Given the description of an element on the screen output the (x, y) to click on. 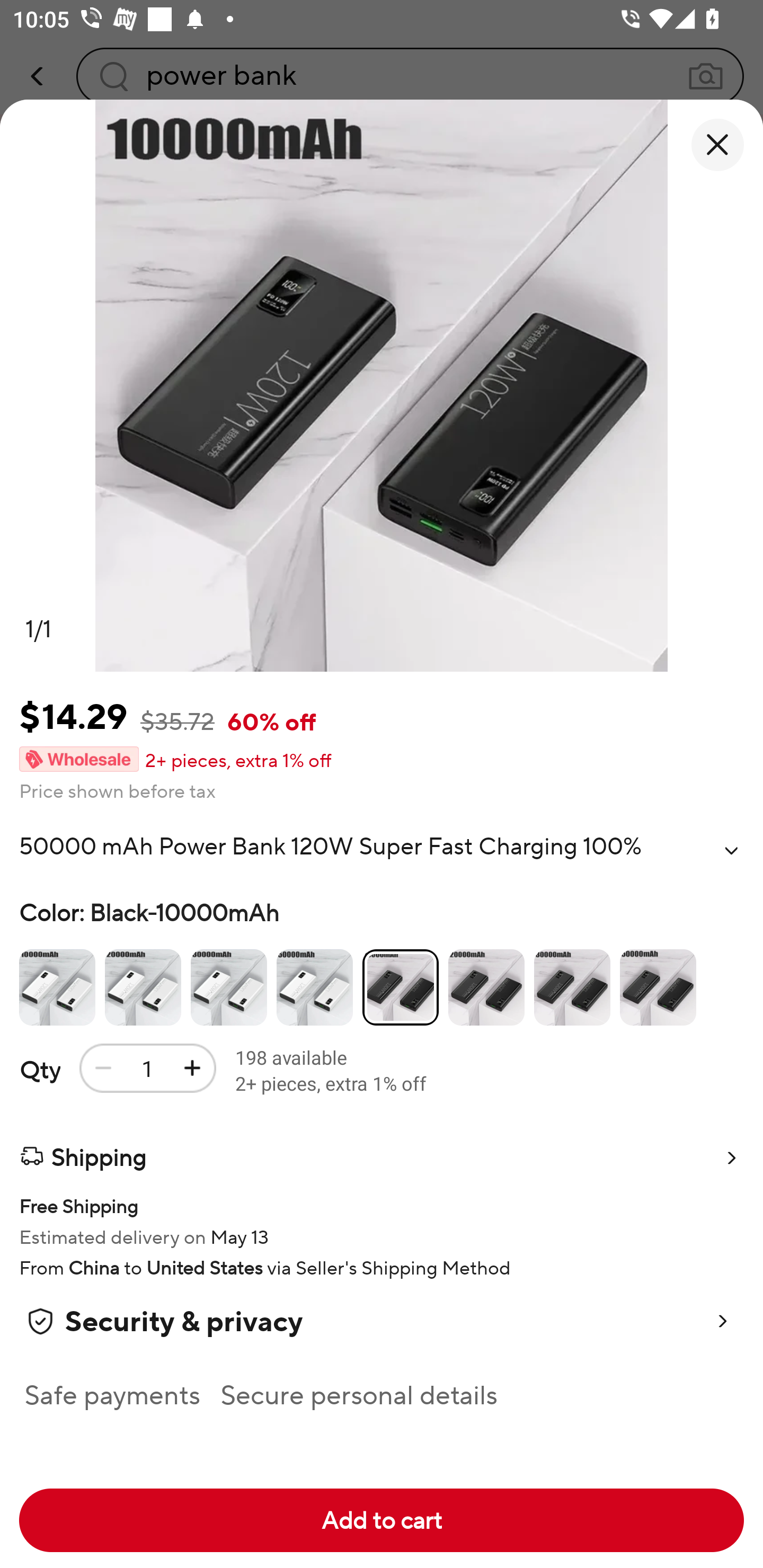
close  (717, 144)
 (730, 850)
Add to cart (381, 1520)
